Given the description of an element on the screen output the (x, y) to click on. 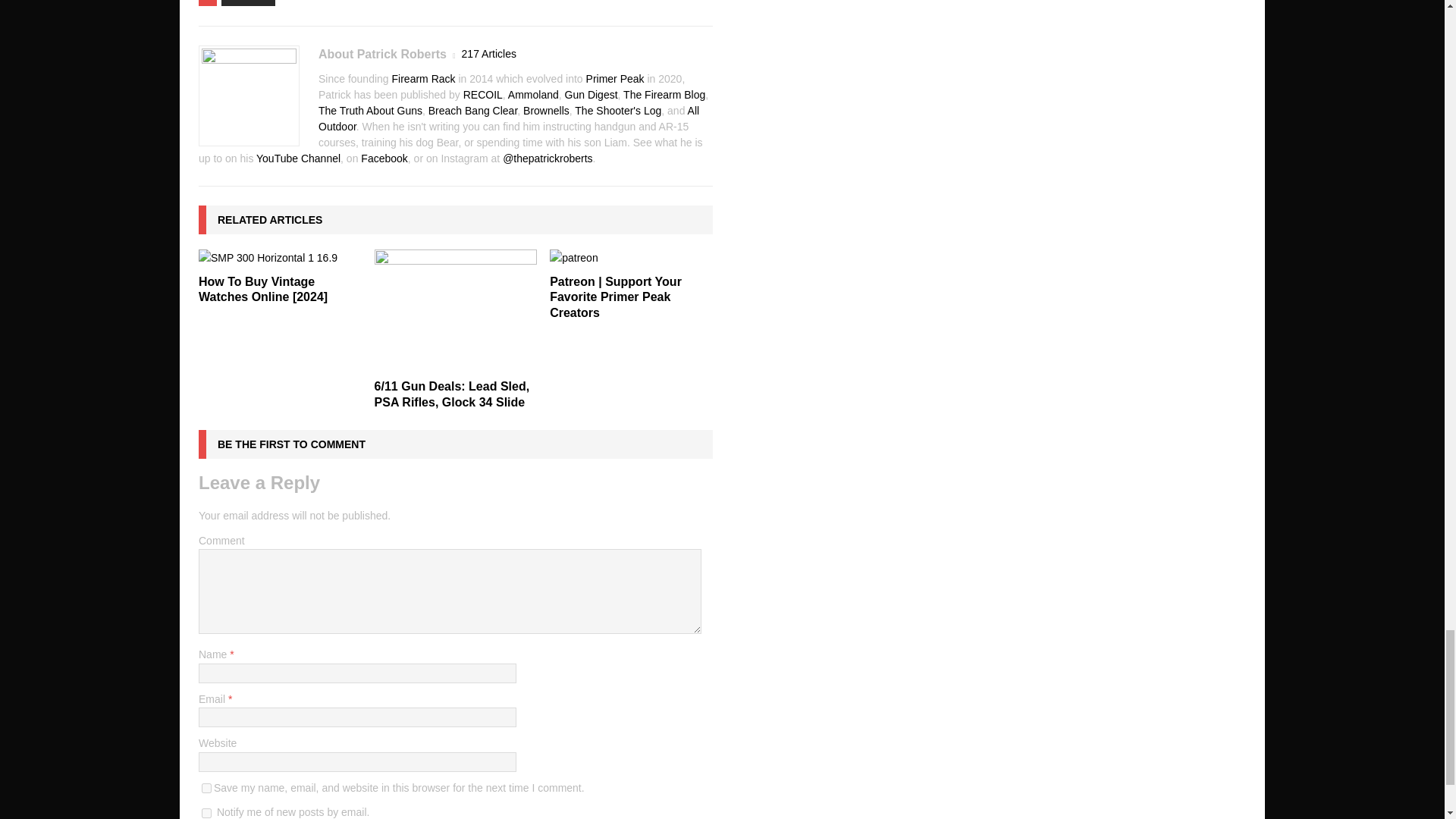
yes (206, 787)
subscribe (206, 813)
